Given the description of an element on the screen output the (x, y) to click on. 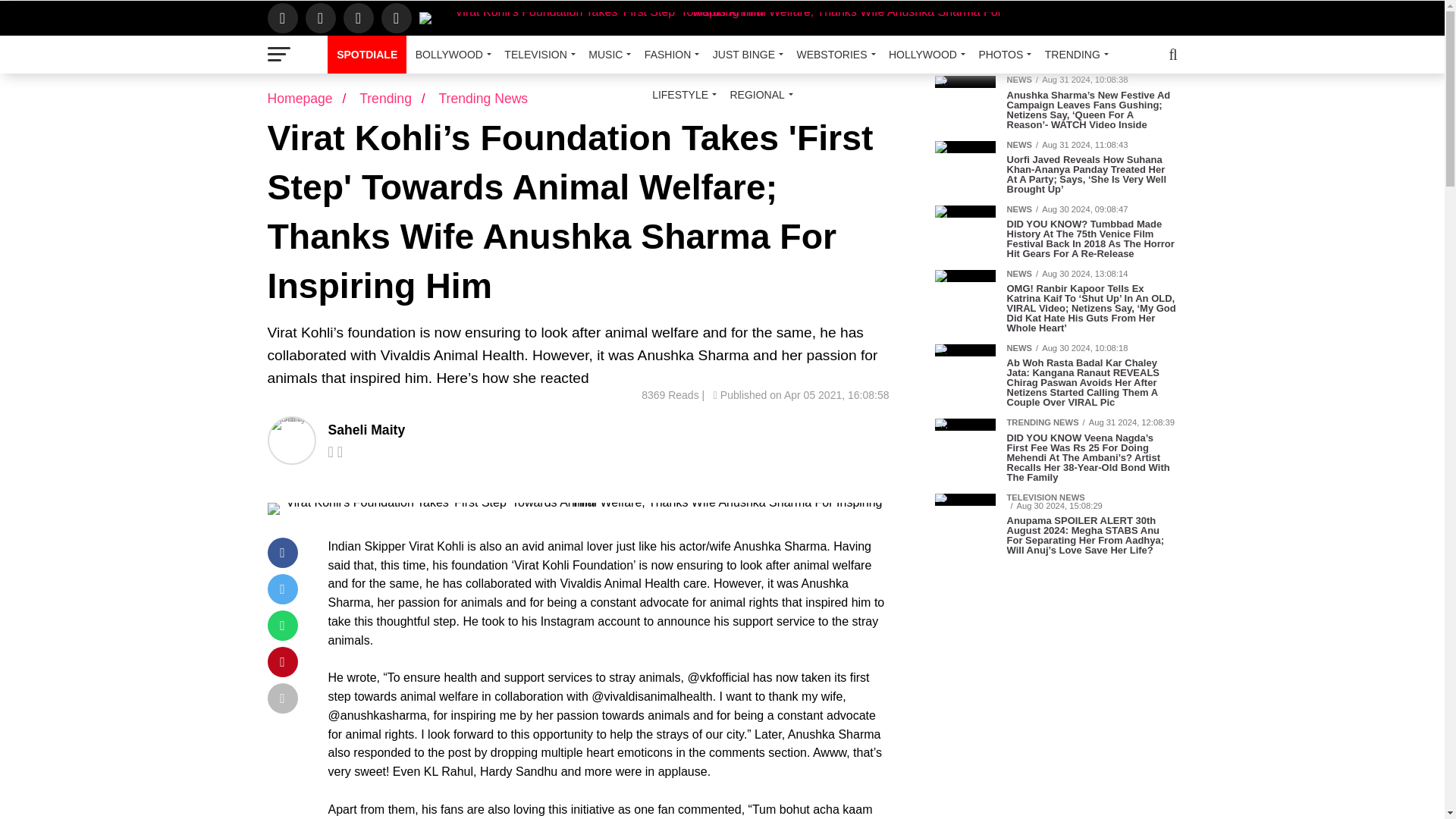
REGIONAL (758, 94)
BOLLYWOOD (451, 54)
WEBSTORIES (833, 54)
TELEVISION (537, 54)
Posts by  Saheli Maity  (365, 429)
LIFESTYLE (681, 94)
FASHION (668, 54)
MUSIC (606, 54)
TRENDING (1074, 54)
PHOTOS (1002, 54)
